Given the description of an element on the screen output the (x, y) to click on. 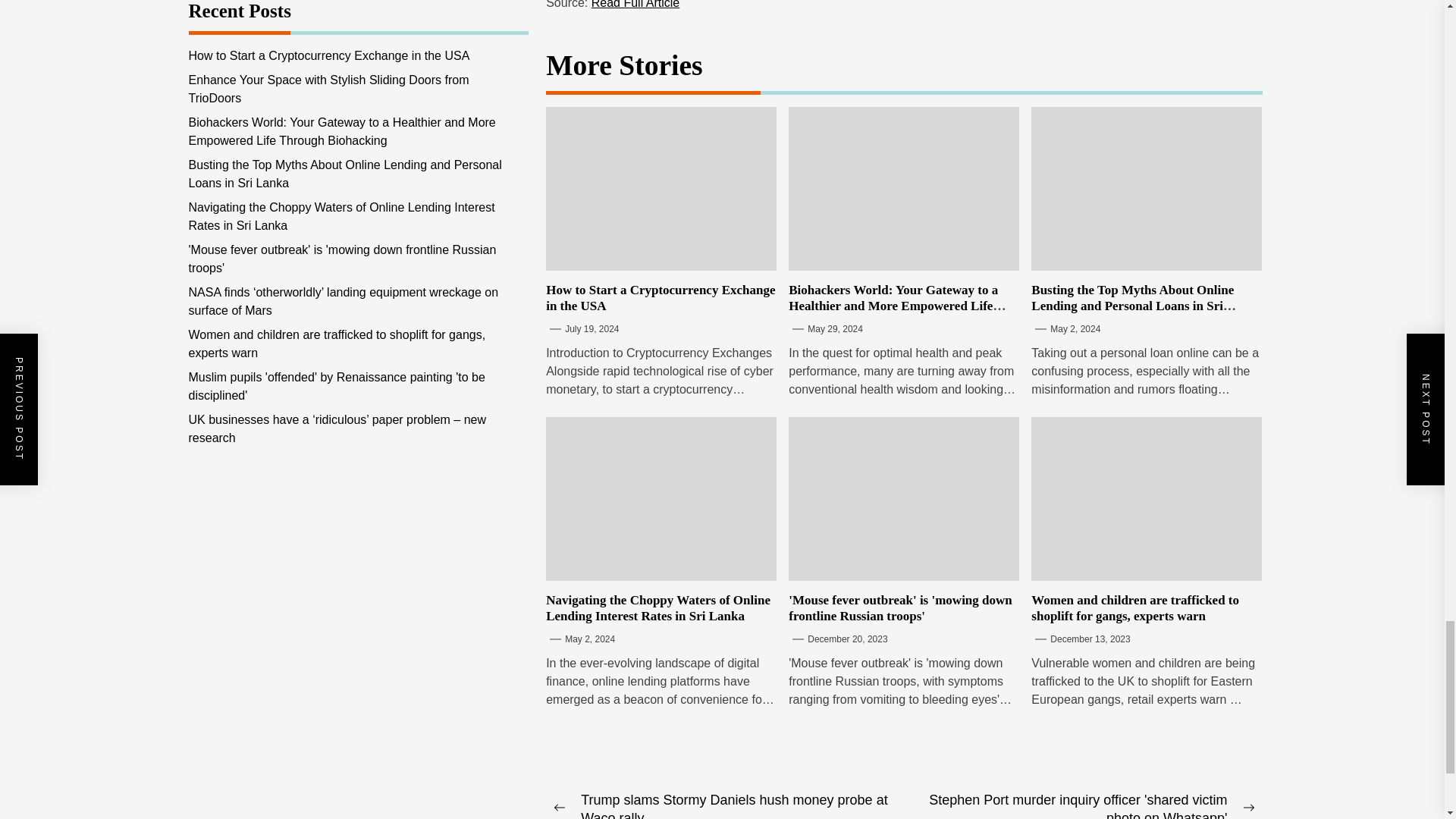
May 2, 2024 (1074, 328)
May 29, 2024 (835, 328)
July 19, 2024 (591, 328)
How to Start a Cryptocurrency Exchange in the USA (660, 297)
Read Full Article (635, 4)
